Given the description of an element on the screen output the (x, y) to click on. 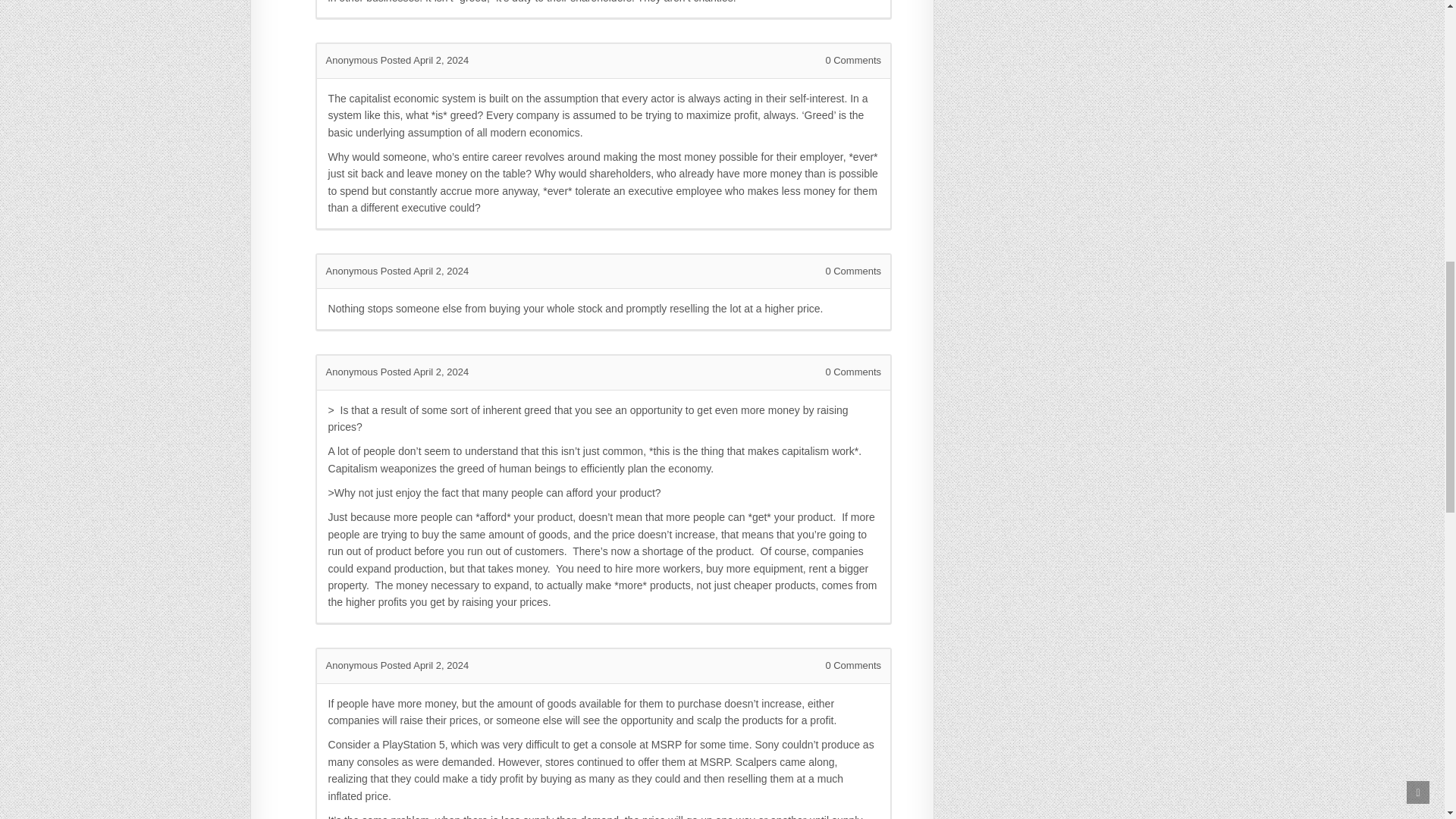
Posted April 2, 2024 (424, 665)
Posted April 2, 2024 (424, 371)
Posted April 2, 2024 (424, 60)
Posted April 2, 2024 (424, 270)
